Given the description of an element on the screen output the (x, y) to click on. 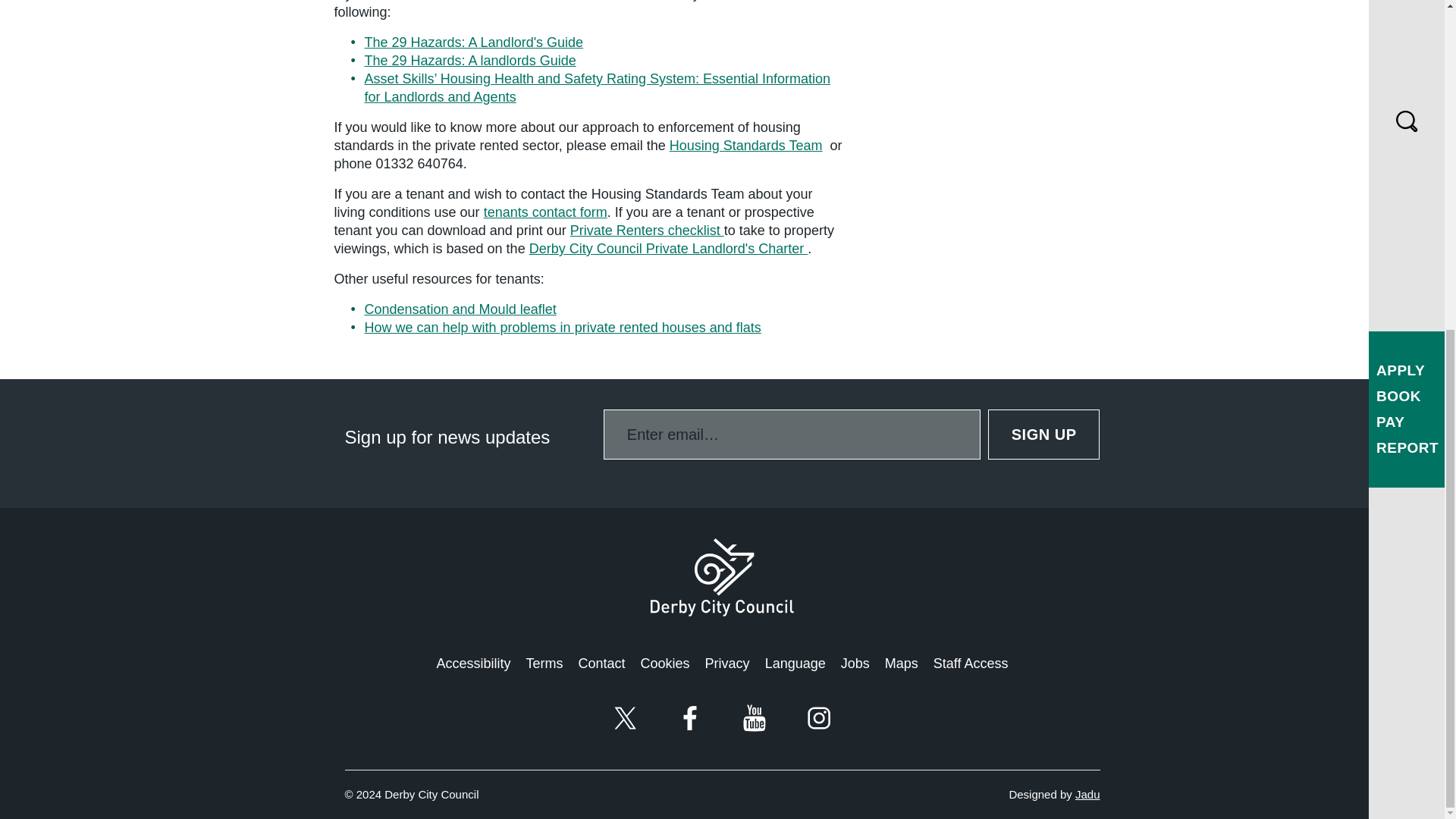
The 29 Hazards: A Landlord's Guide (473, 42)
Sign up (1044, 434)
The 29 Hazards: A landlords Guide (469, 60)
Derby City Council logo (721, 577)
